Given the description of an element on the screen output the (x, y) to click on. 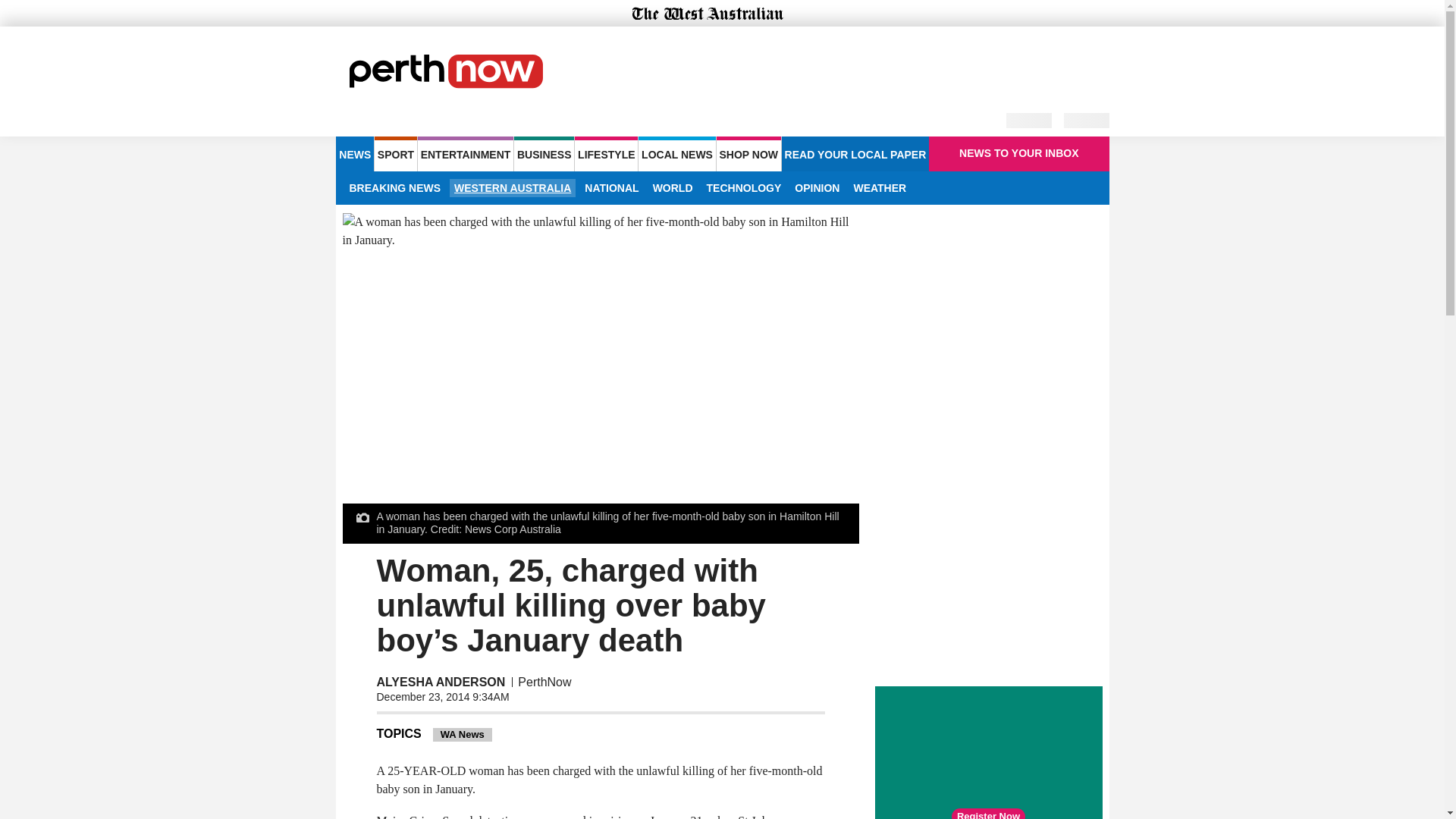
ENTERTAINMENT (465, 153)
NEWS (354, 153)
SPORT (395, 153)
BUSINESS (543, 153)
